Given the description of an element on the screen output the (x, y) to click on. 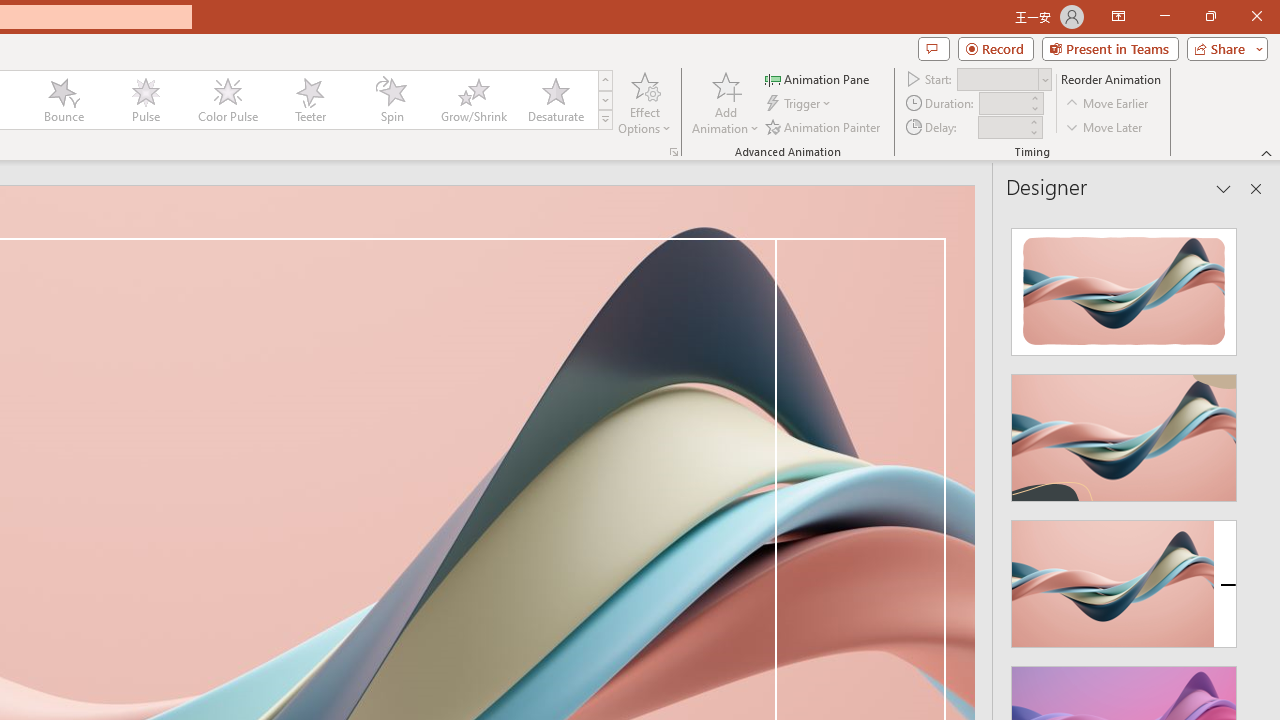
Effect Options (644, 102)
Bounce (63, 100)
Grow/Shrink (473, 100)
Move Earlier (1107, 103)
Spin (391, 100)
